Given the description of an element on the screen output the (x, y) to click on. 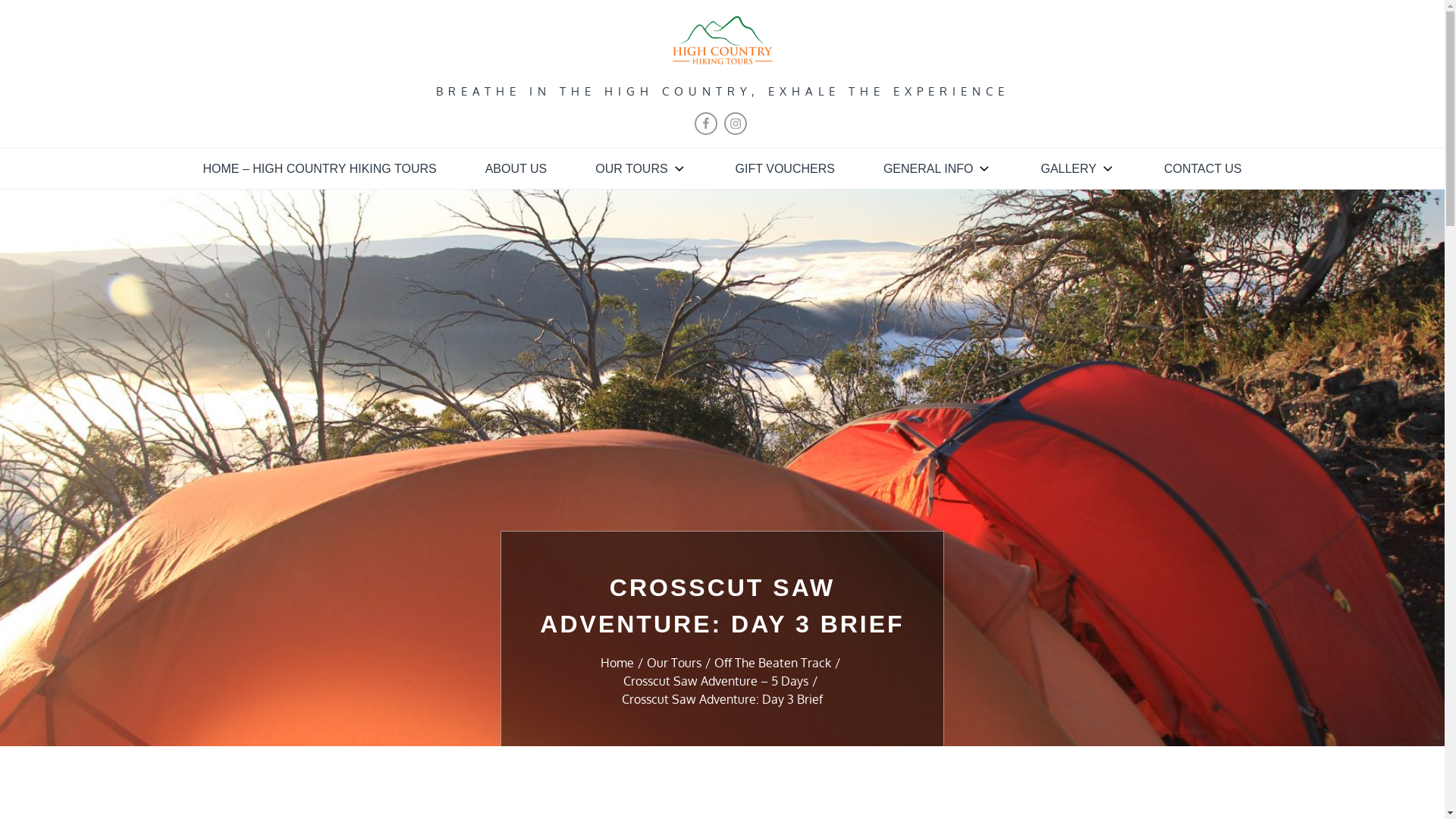
Our Tours Element type: text (680, 662)
ABOUT US Element type: text (516, 168)
Home Element type: text (623, 662)
GENERAL INFO Element type: text (937, 168)
Off The Beaten Track Element type: text (779, 662)
GALLERY Element type: text (1077, 168)
GIFT VOUCHERS Element type: text (784, 168)
CONTACT US Element type: text (1202, 168)
OUR TOURS Element type: text (640, 168)
